Given the description of an element on the screen output the (x, y) to click on. 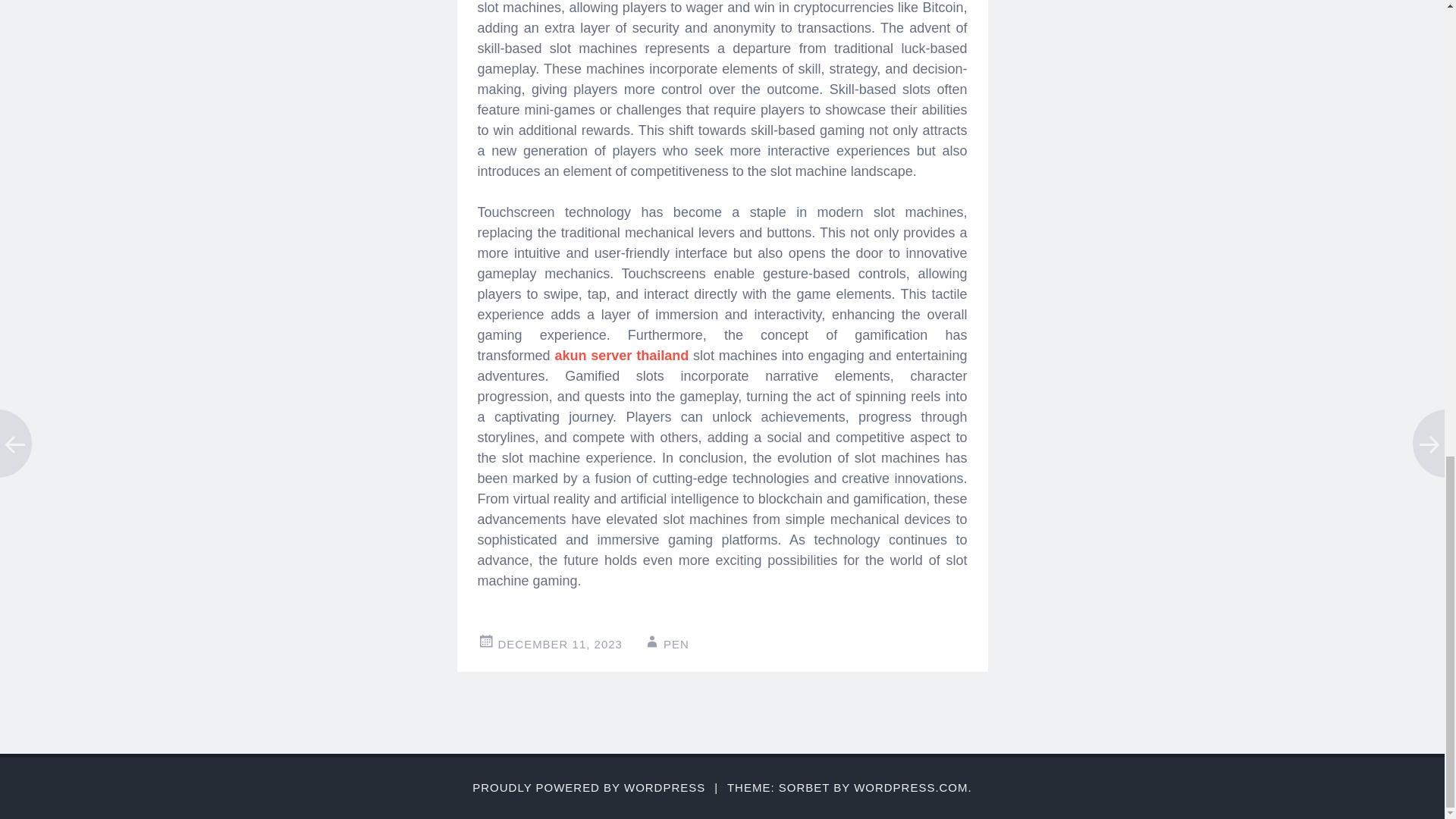
WORDPRESS.COM (910, 787)
PEN (675, 644)
PROUDLY POWERED BY WORDPRESS (587, 787)
View all posts by Pen (675, 644)
6:48 am (559, 644)
akun server thailand (621, 355)
DECEMBER 11, 2023 (559, 644)
